Given the description of an element on the screen output the (x, y) to click on. 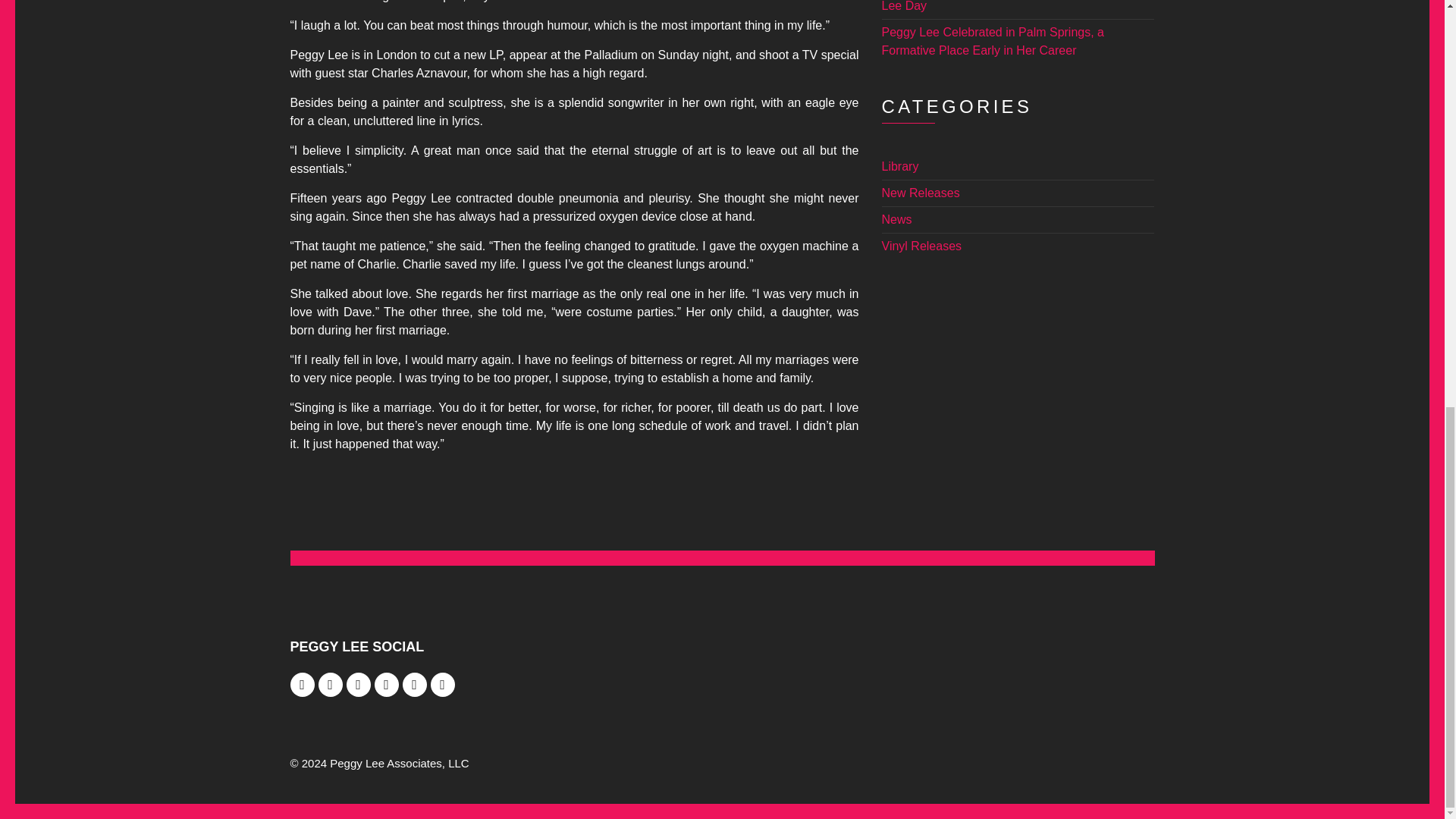
Facebook (301, 684)
Spotify (413, 684)
Twitter (357, 684)
YouTube (386, 684)
Instagram (330, 684)
TikTok (442, 684)
